Given the description of an element on the screen output the (x, y) to click on. 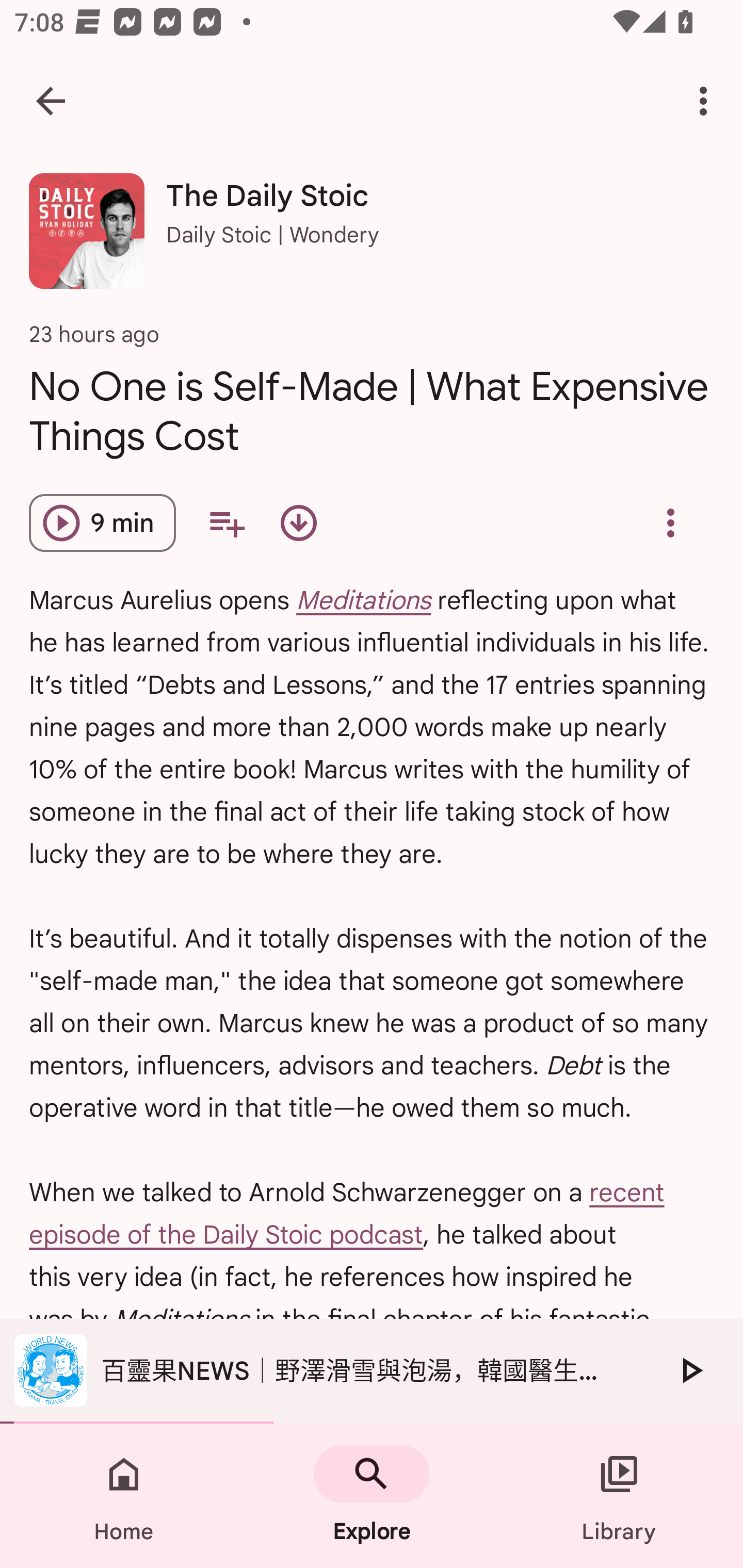
Navigate up (50, 101)
More options (706, 101)
Add to your queue (226, 522)
Download episode (298, 522)
Overflow menu (670, 522)
Play (690, 1370)
Home (123, 1495)
Library (619, 1495)
